Given the description of an element on the screen output the (x, y) to click on. 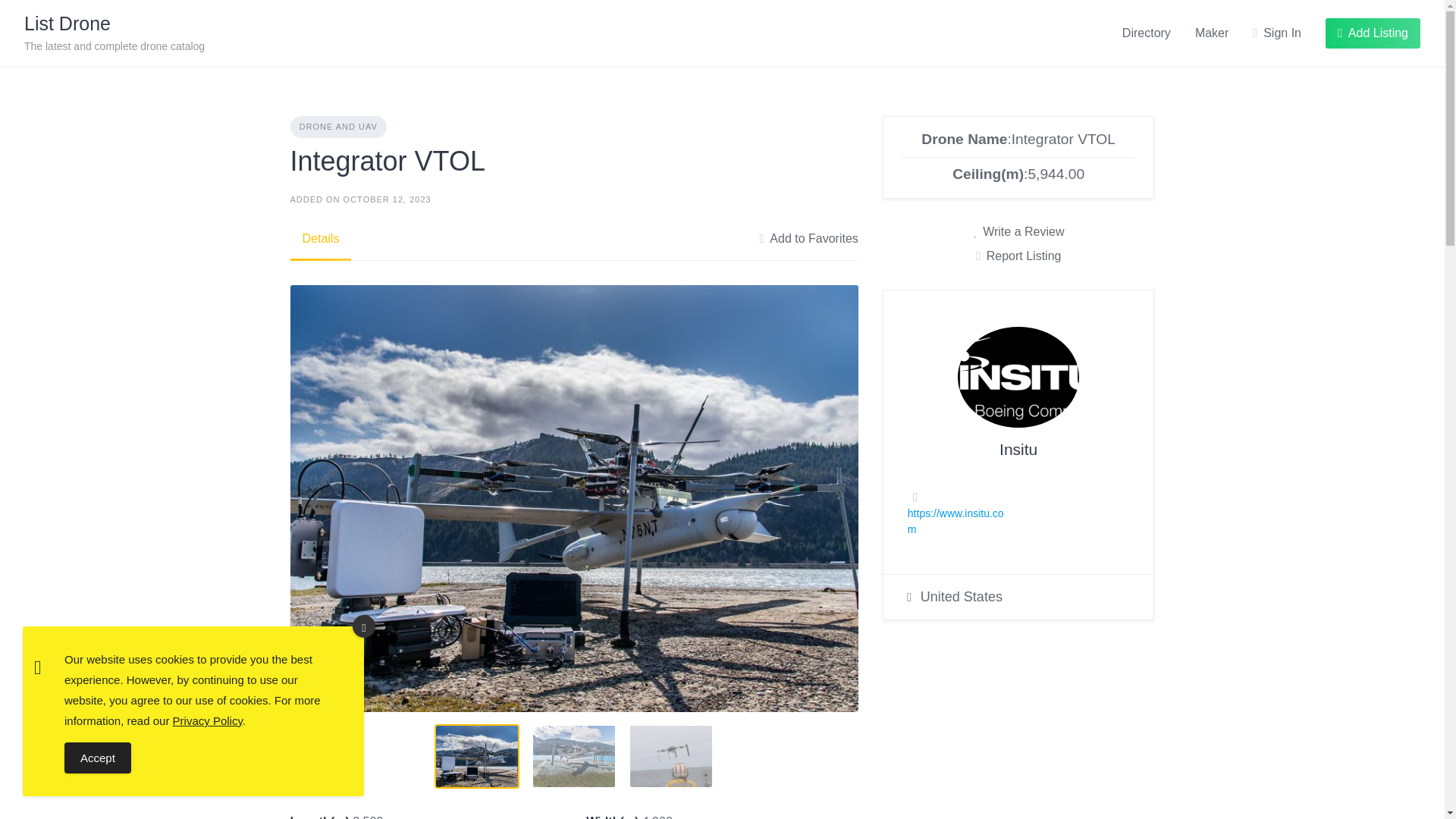
Write a Review (1018, 231)
Maker (1211, 33)
Directory (1146, 33)
Insitu (1017, 448)
Add to Favorites (807, 239)
Report Listing (1018, 256)
DRONE AND UAV (337, 127)
Add Listing (1372, 33)
Sign In (1276, 33)
Details (320, 239)
